Given the description of an element on the screen output the (x, y) to click on. 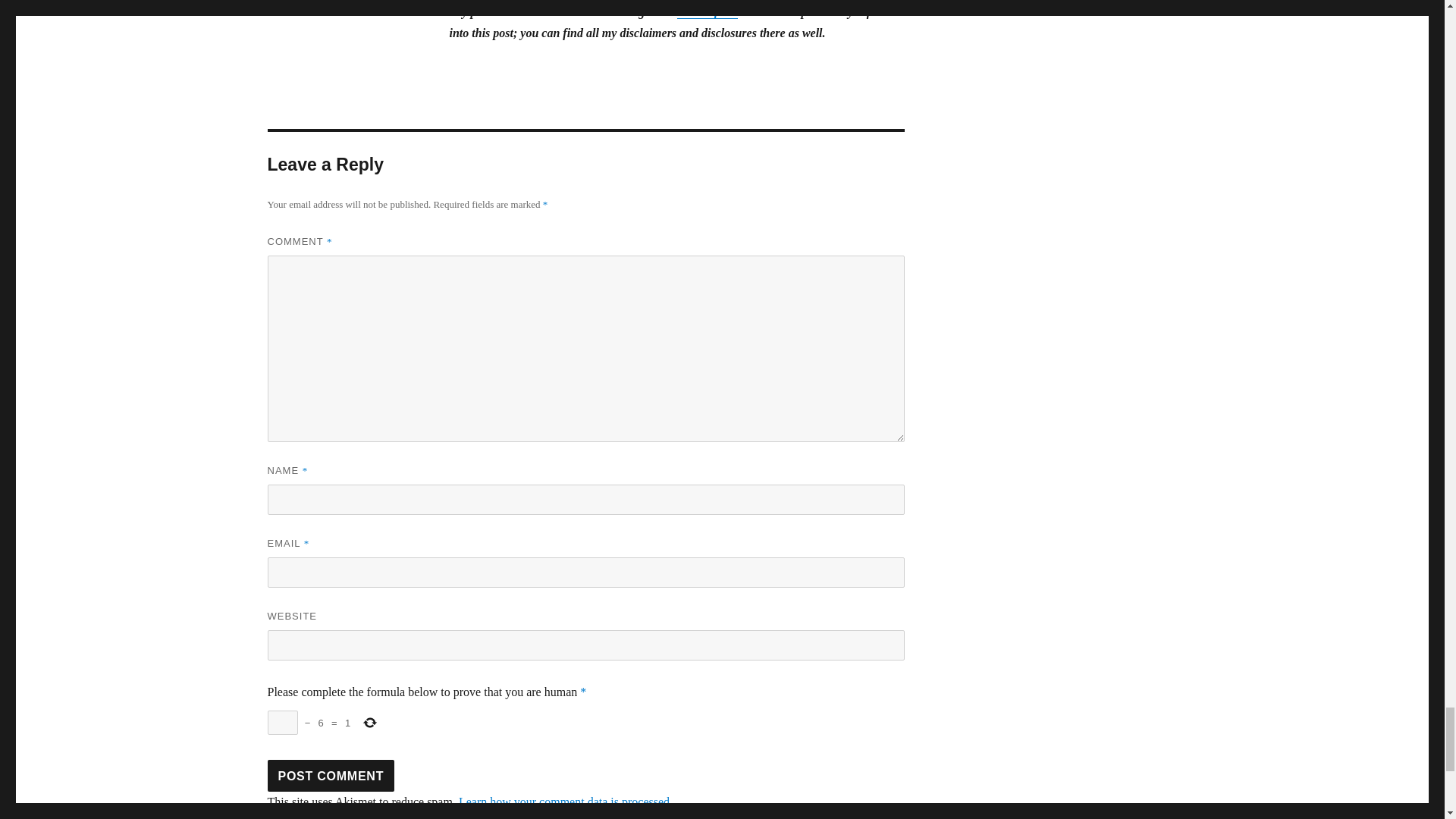
Post Comment (330, 775)
